Given the description of an element on the screen output the (x, y) to click on. 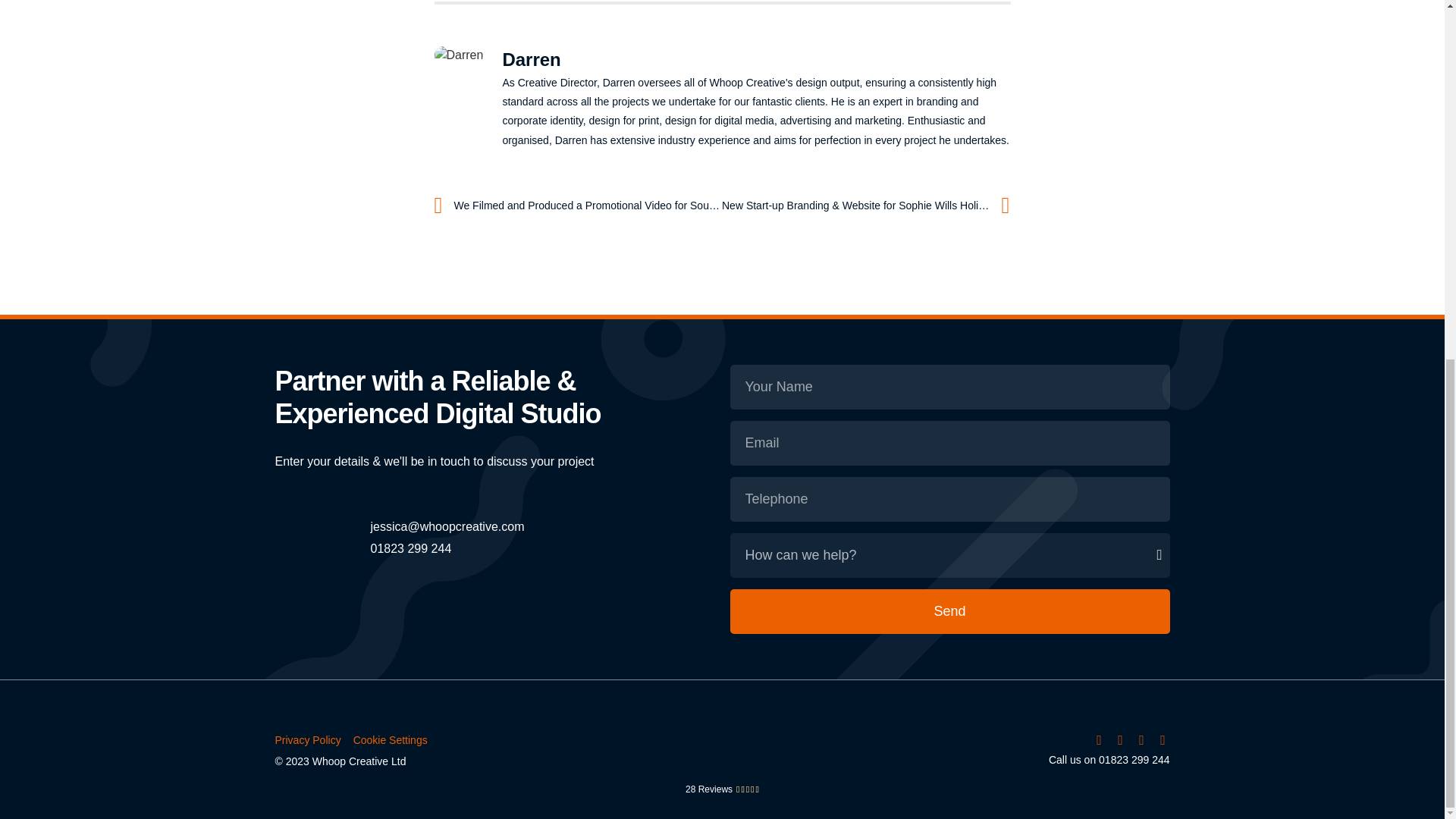
01823 299 244 (410, 548)
Send (949, 610)
